Given the description of an element on the screen output the (x, y) to click on. 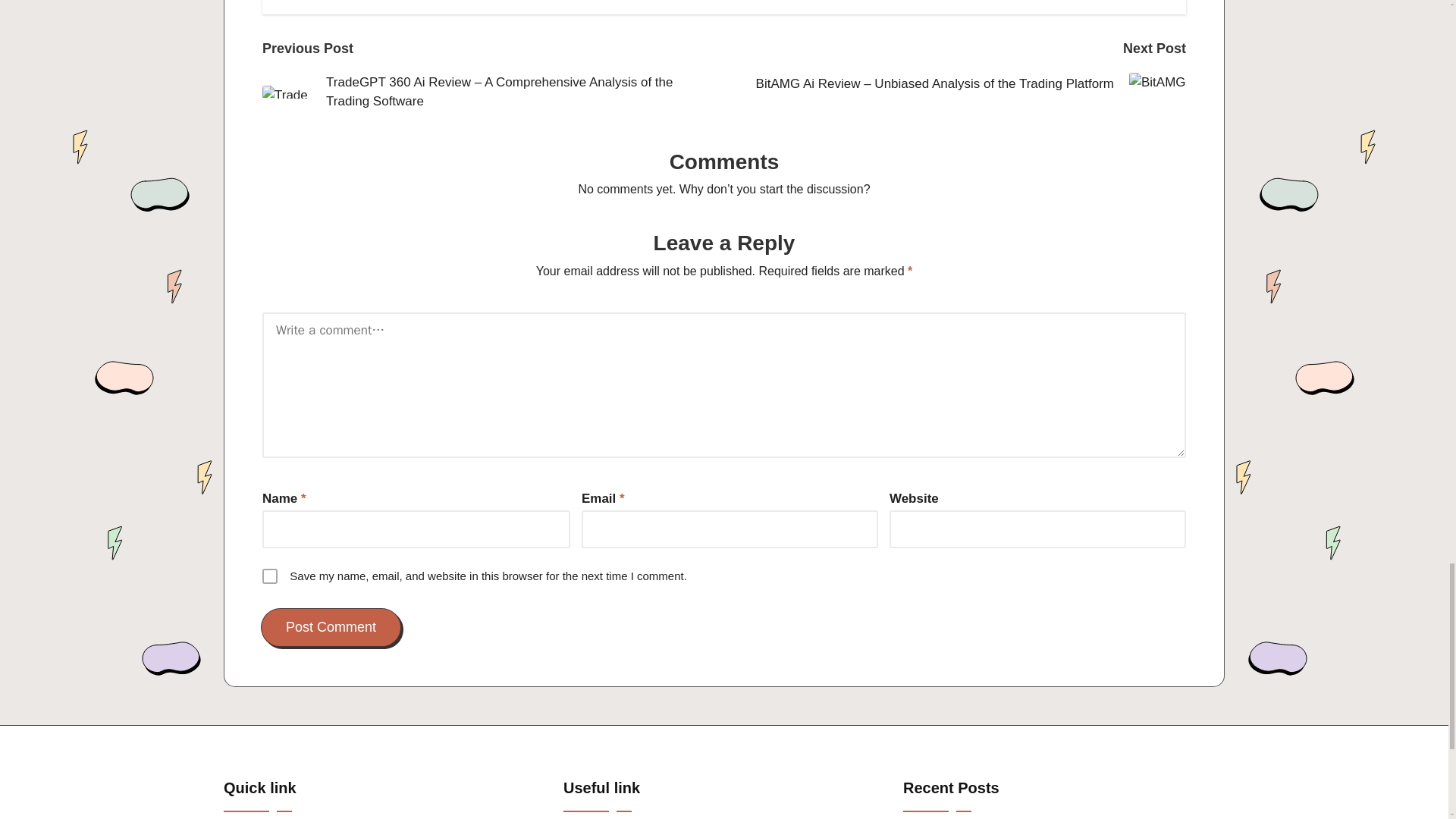
Post Comment (330, 627)
yes (270, 575)
Post Comment (330, 627)
